Given the description of an element on the screen output the (x, y) to click on. 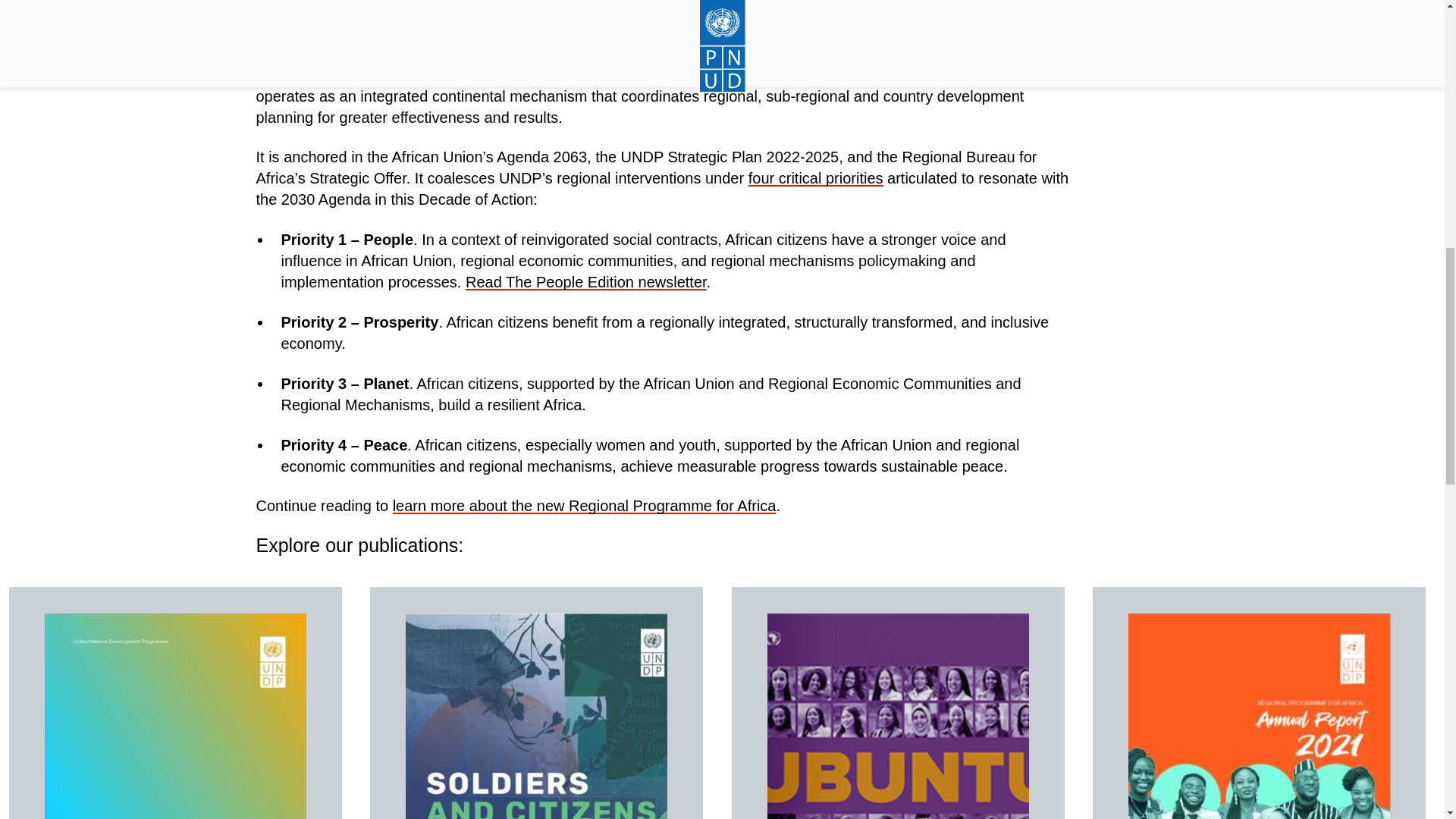
learn more about the new Regional Programme for Africa (584, 505)
Read The People Edition newsletter (585, 281)
four critical priorities (815, 177)
